Given the description of an element on the screen output the (x, y) to click on. 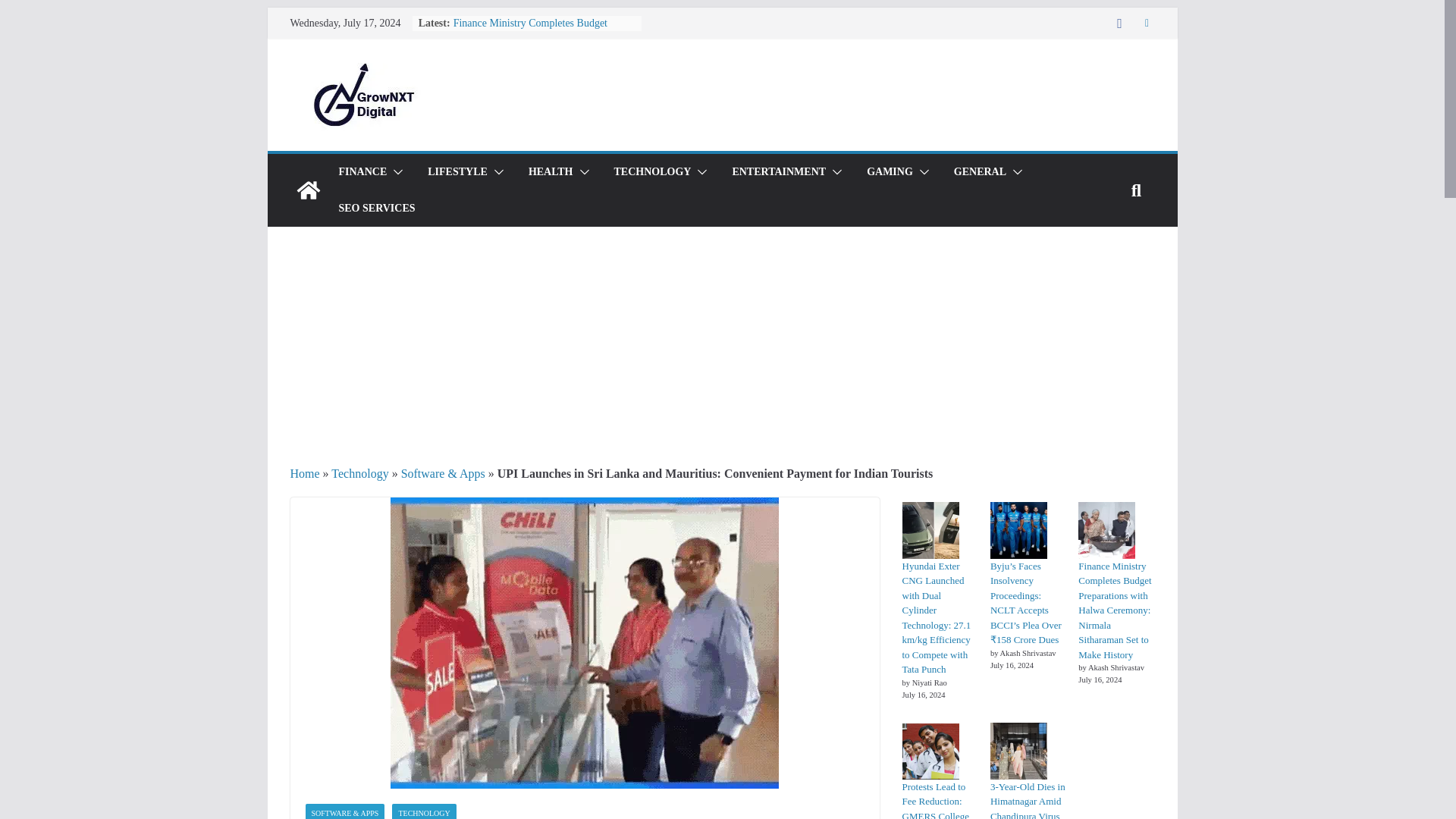
GAMING (889, 171)
GENERAL (979, 171)
HEALTH (550, 171)
TECHNOLOGY (652, 171)
LIFESTYLE (457, 171)
FINANCE (362, 171)
ENTERTAINMENT (778, 171)
GrowNxt Digital (307, 189)
